Given the description of an element on the screen output the (x, y) to click on. 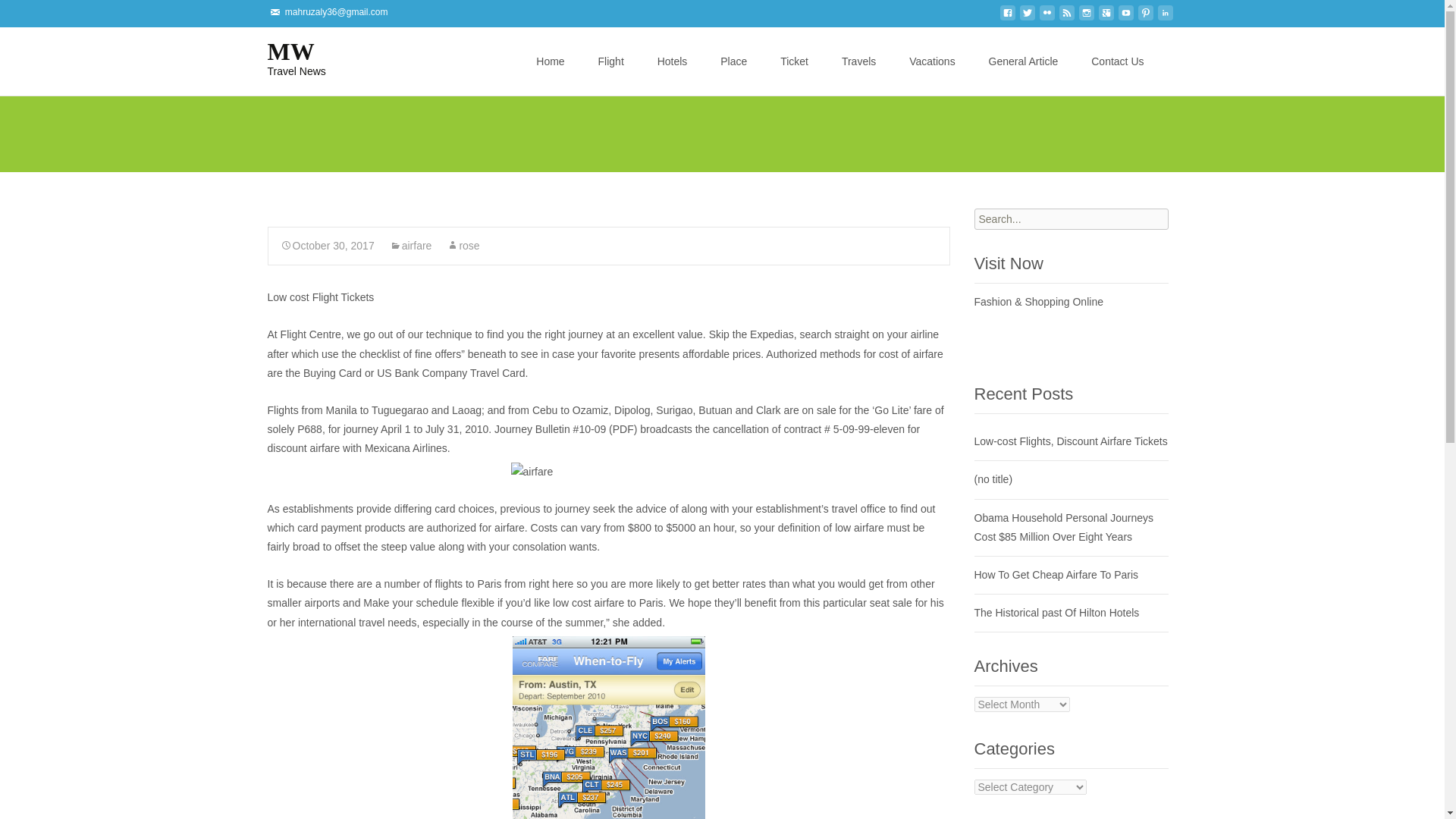
View all posts by rose (462, 245)
instagram (283, 57)
facebook (1085, 17)
Skip to content (1006, 17)
feed (556, 36)
linkedin (1066, 17)
googleplus (1164, 17)
flickr (1105, 17)
General Article (1046, 17)
